Given the description of an element on the screen output the (x, y) to click on. 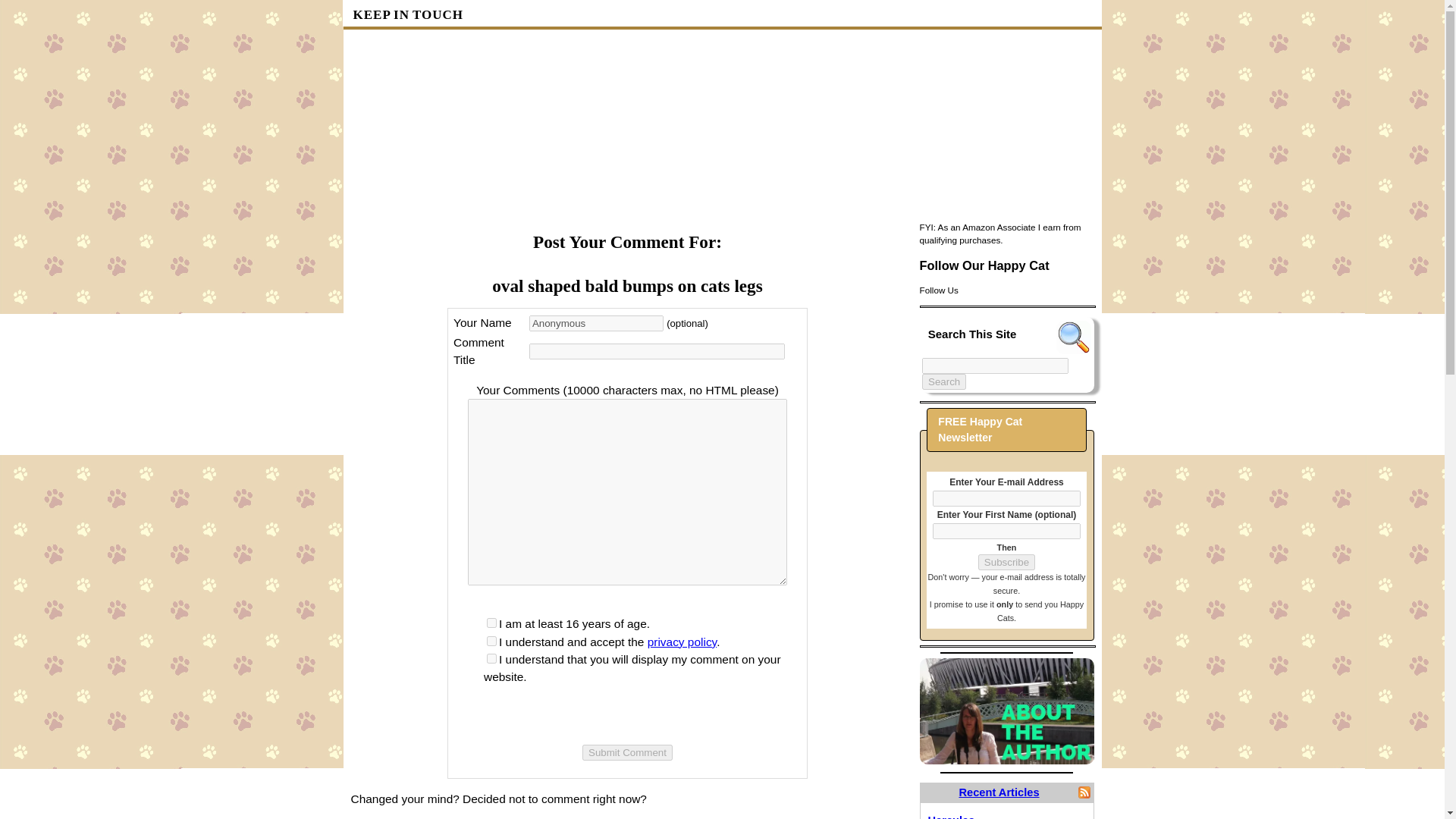
Anonymous (596, 323)
1 (491, 641)
Submit Comment (627, 752)
Search (943, 381)
Go to About Me and Our Happy Cat Site (1005, 760)
Subscribe (1006, 562)
1 (491, 658)
1 (491, 623)
